Given the description of an element on the screen output the (x, y) to click on. 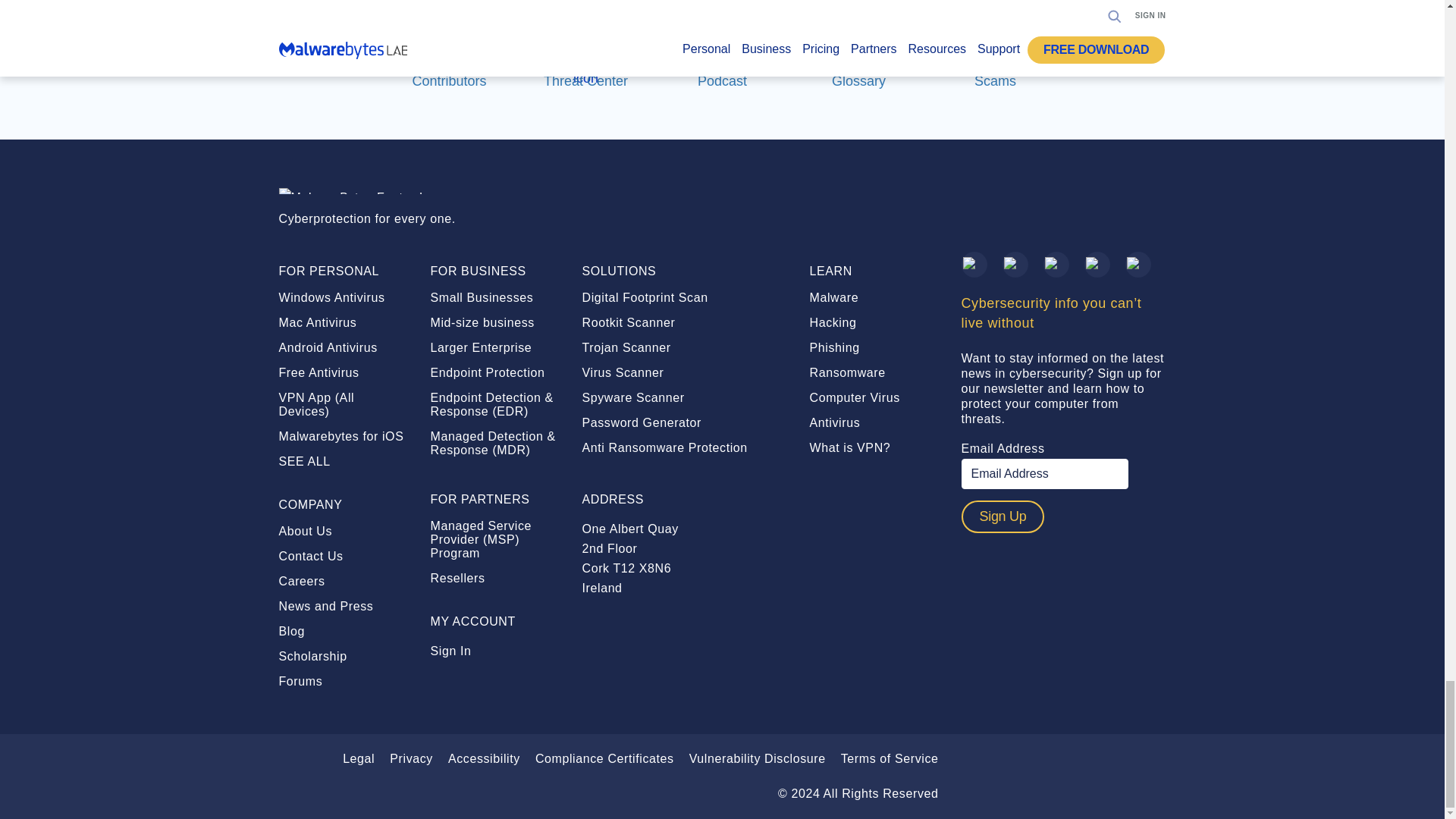
Sign Up (1002, 516)
